Given the description of an element on the screen output the (x, y) to click on. 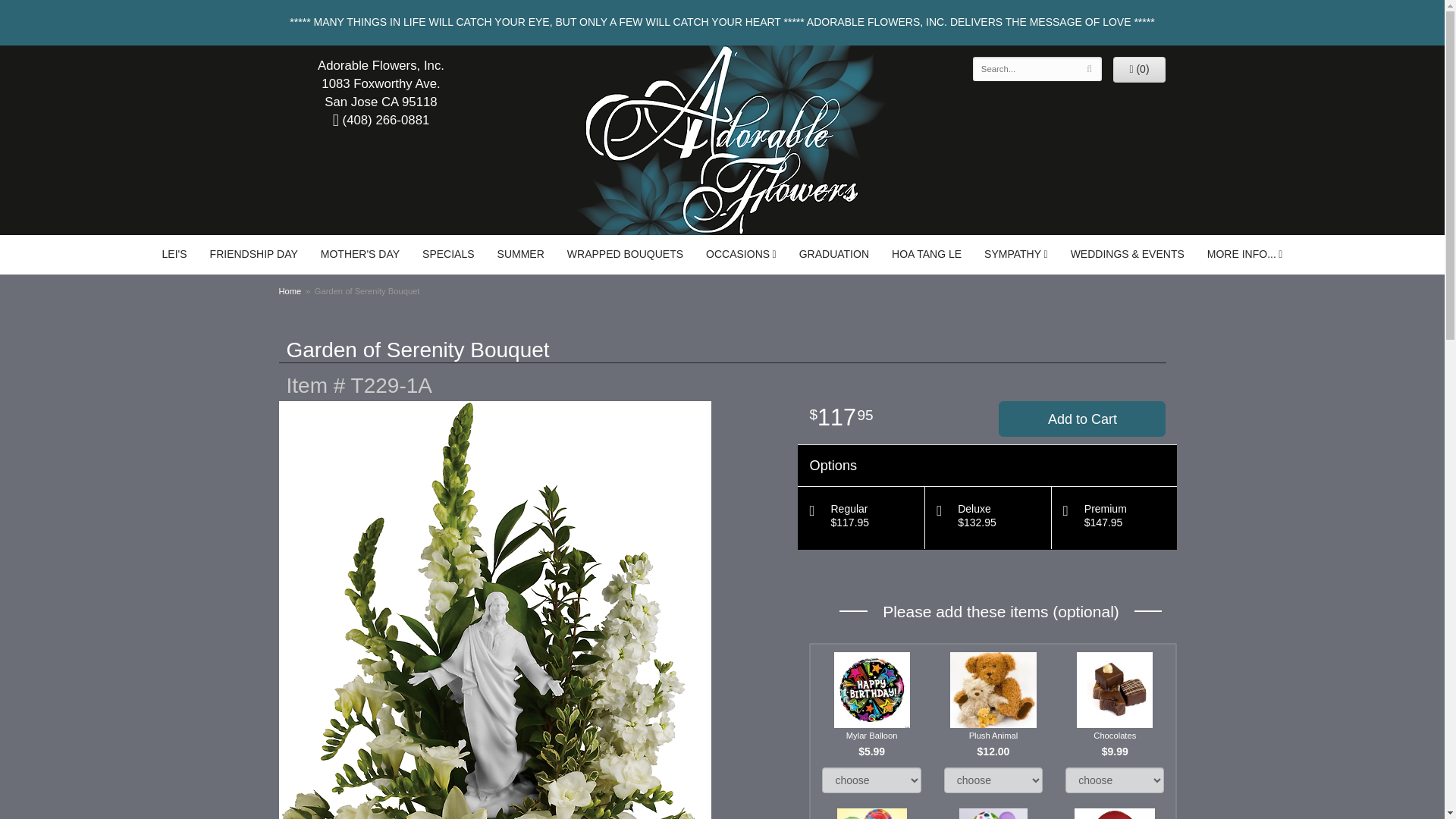
MORE INFO... (1244, 254)
GRADUATION (833, 253)
SUMMER (521, 253)
WRAPPED BOUQUETS (625, 253)
SPECIALS (447, 253)
HOA TANG LE (926, 253)
SYMPATHY (1015, 254)
OCCASIONS (740, 254)
MOTHER'S DAY (359, 253)
FRIENDSHIP DAY (253, 253)
LEI'S (174, 253)
